Given the description of an element on the screen output the (x, y) to click on. 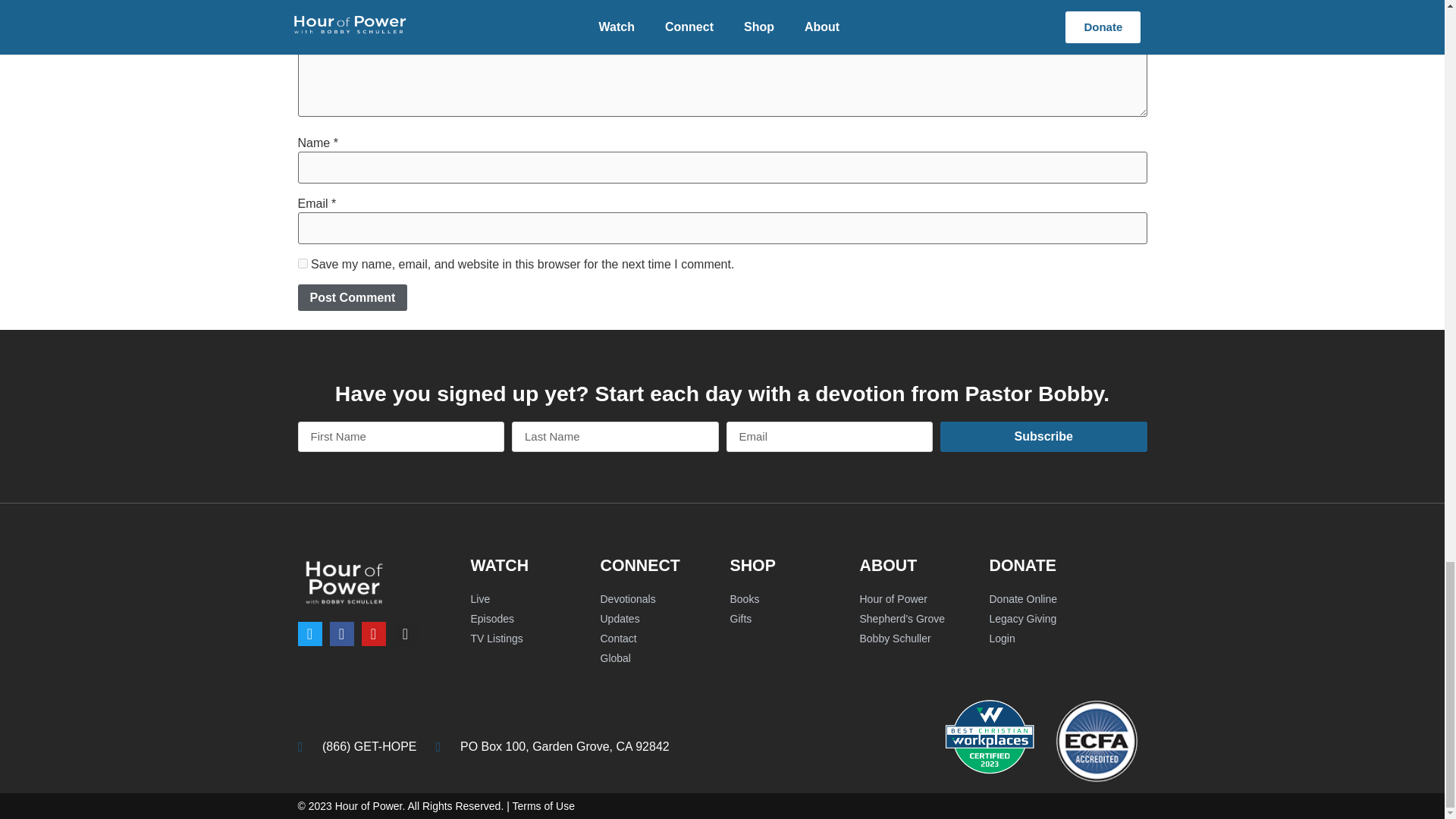
Post Comment (352, 297)
Post Comment (352, 297)
yes (302, 263)
Subscribe (1043, 436)
